Given the description of an element on the screen output the (x, y) to click on. 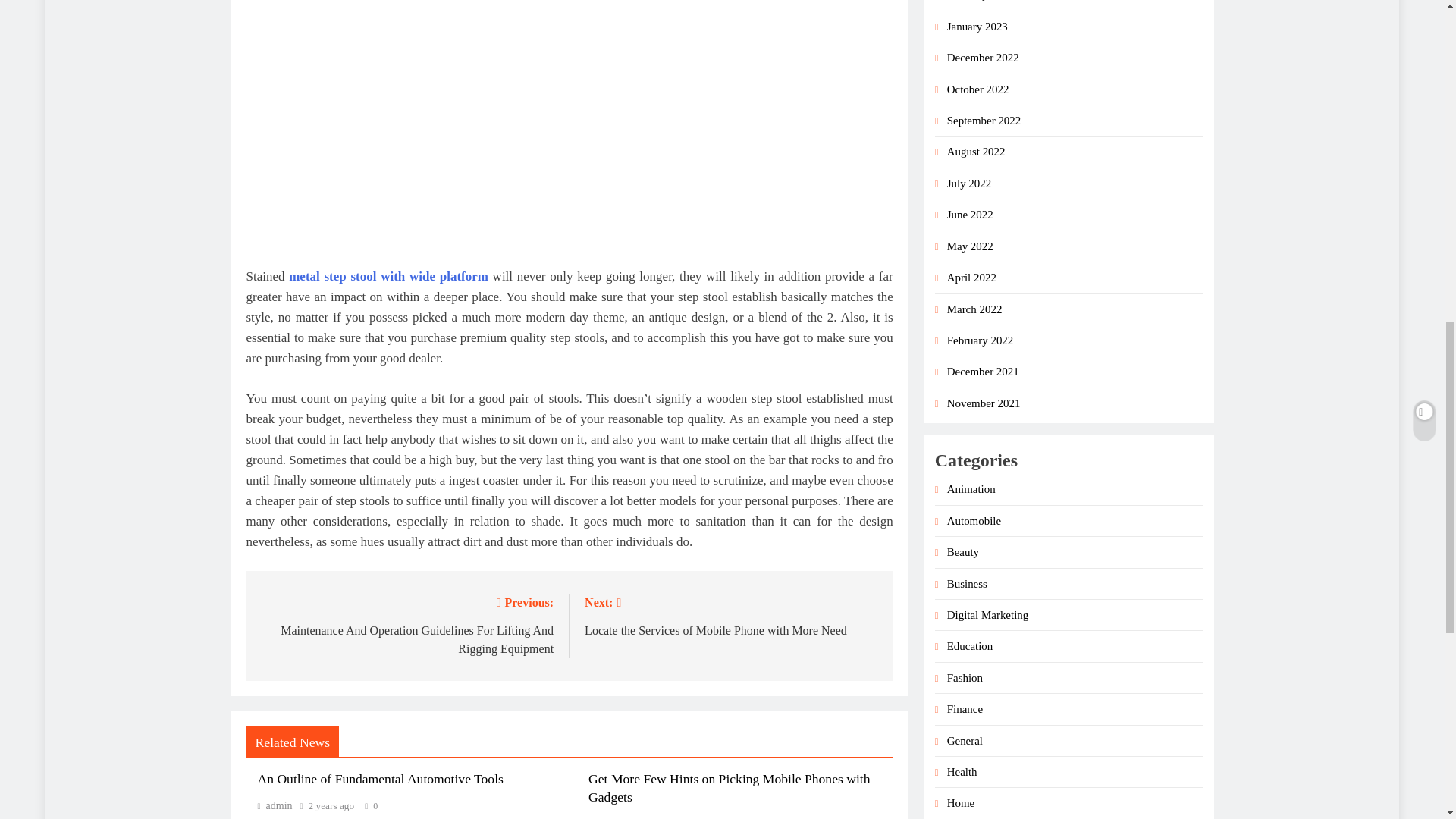
metal step stool with wide platform (731, 615)
An Outline of Fundamental Automotive Tools (387, 276)
admin (380, 778)
Get More Few Hints on Picking Mobile Phones with Gadgets (274, 805)
2 years ago (728, 787)
